Given the description of an element on the screen output the (x, y) to click on. 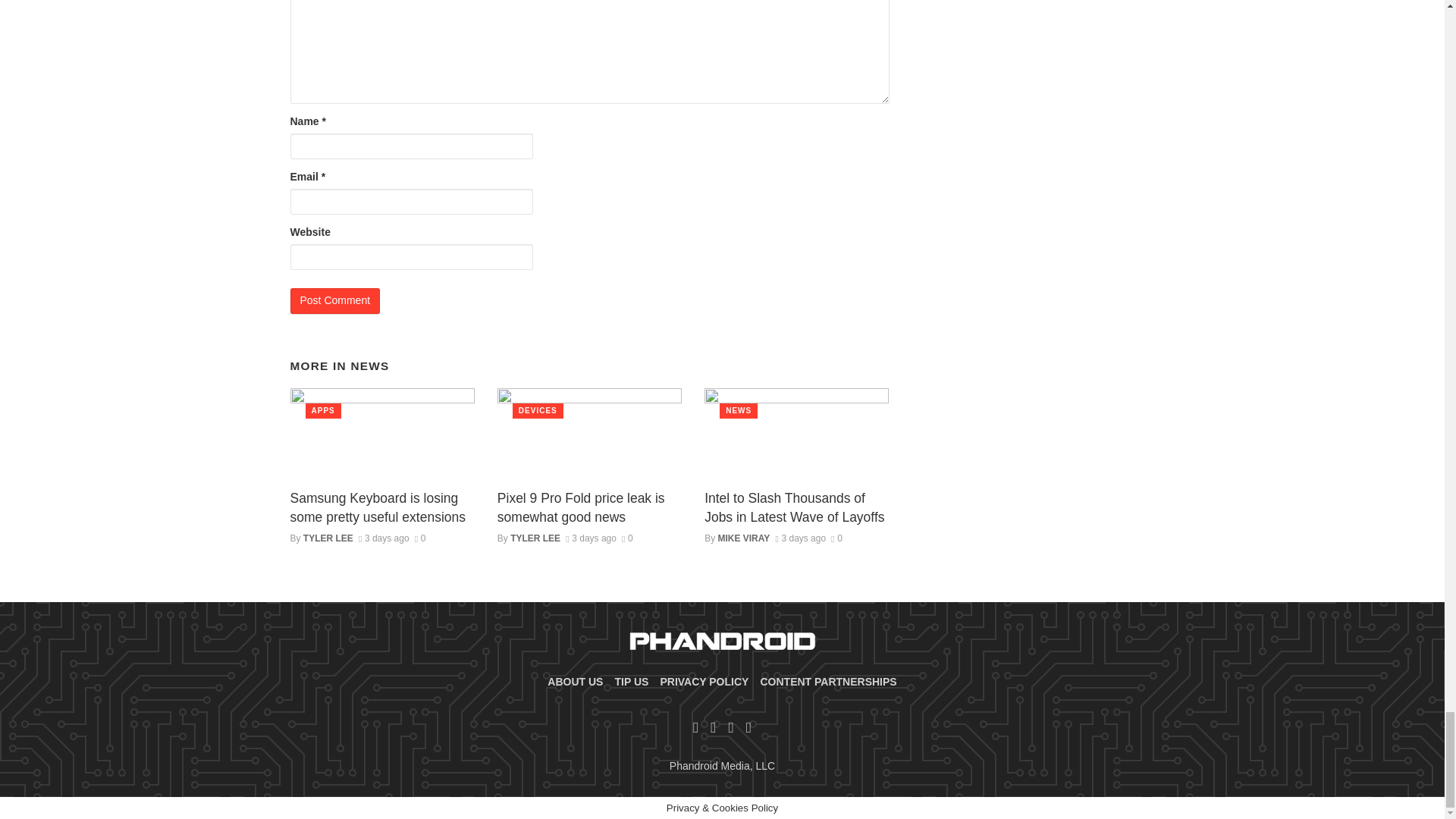
August 2, 2024 at 12:15 am (383, 538)
Post Comment (334, 300)
